Given the description of an element on the screen output the (x, y) to click on. 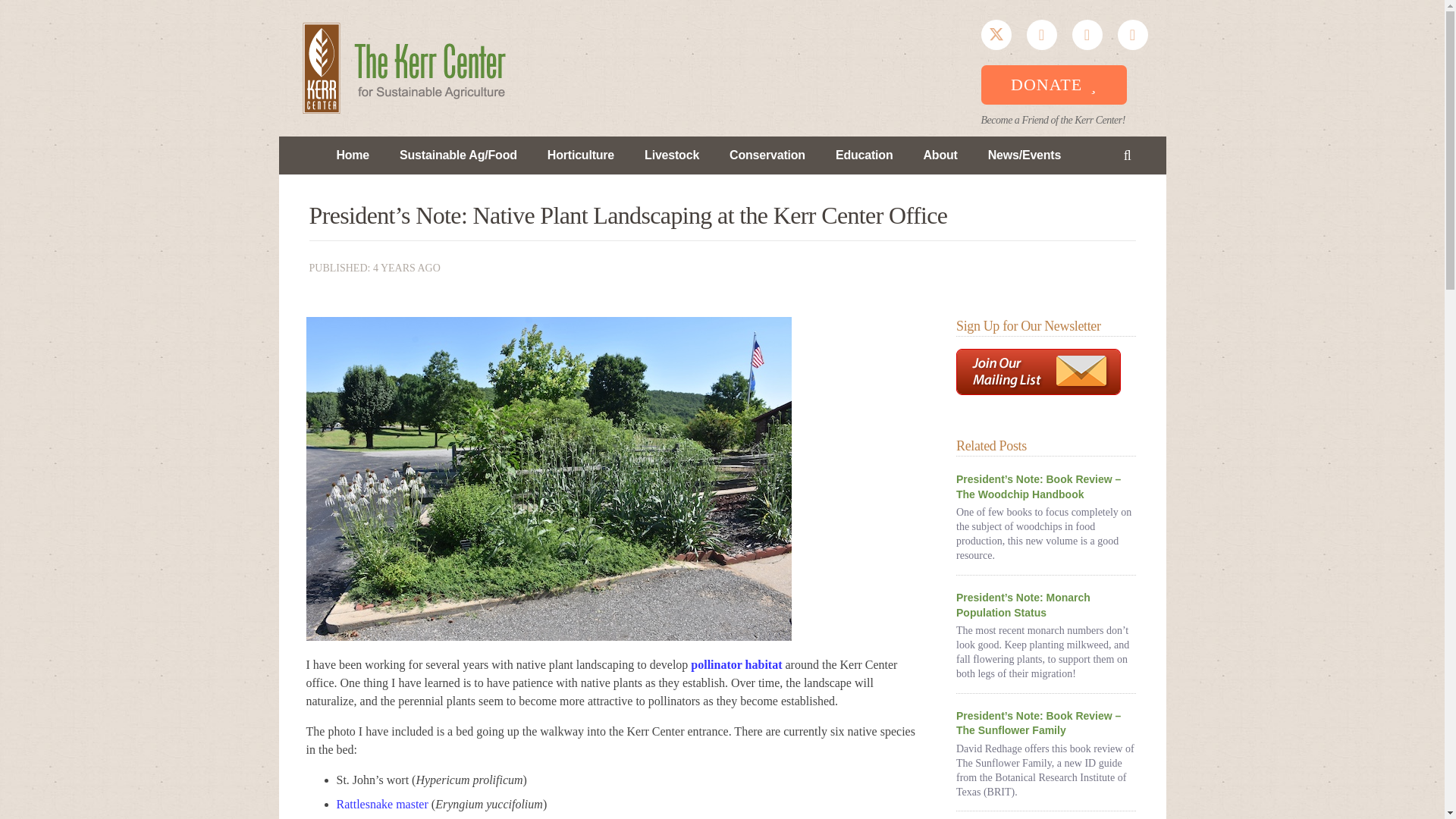
Email (1133, 34)
Livestock (671, 155)
DONATE (1053, 85)
Facebook (1041, 34)
Horticulture (580, 155)
YouTube (1086, 34)
Twitter (996, 34)
Home (352, 155)
